Given the description of an element on the screen output the (x, y) to click on. 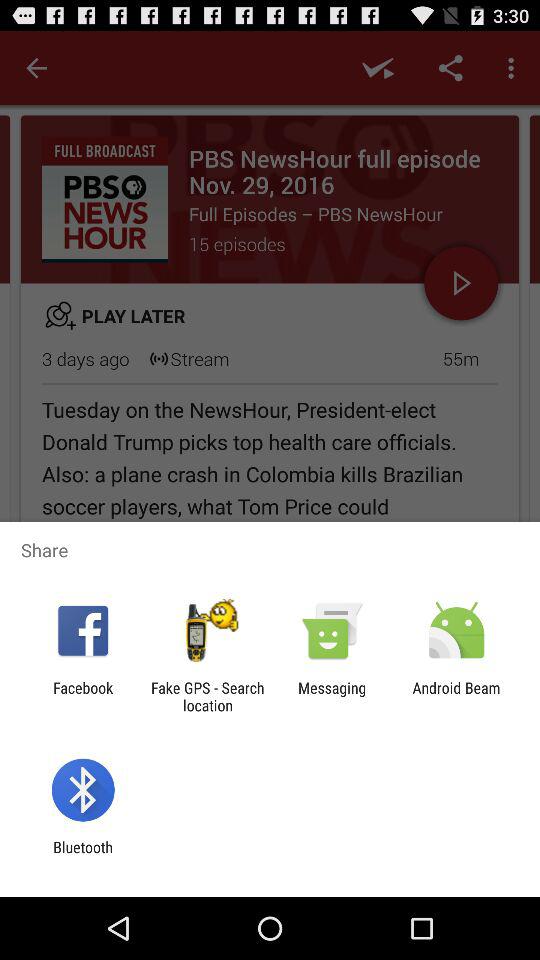
jump to the bluetooth item (82, 856)
